Given the description of an element on the screen output the (x, y) to click on. 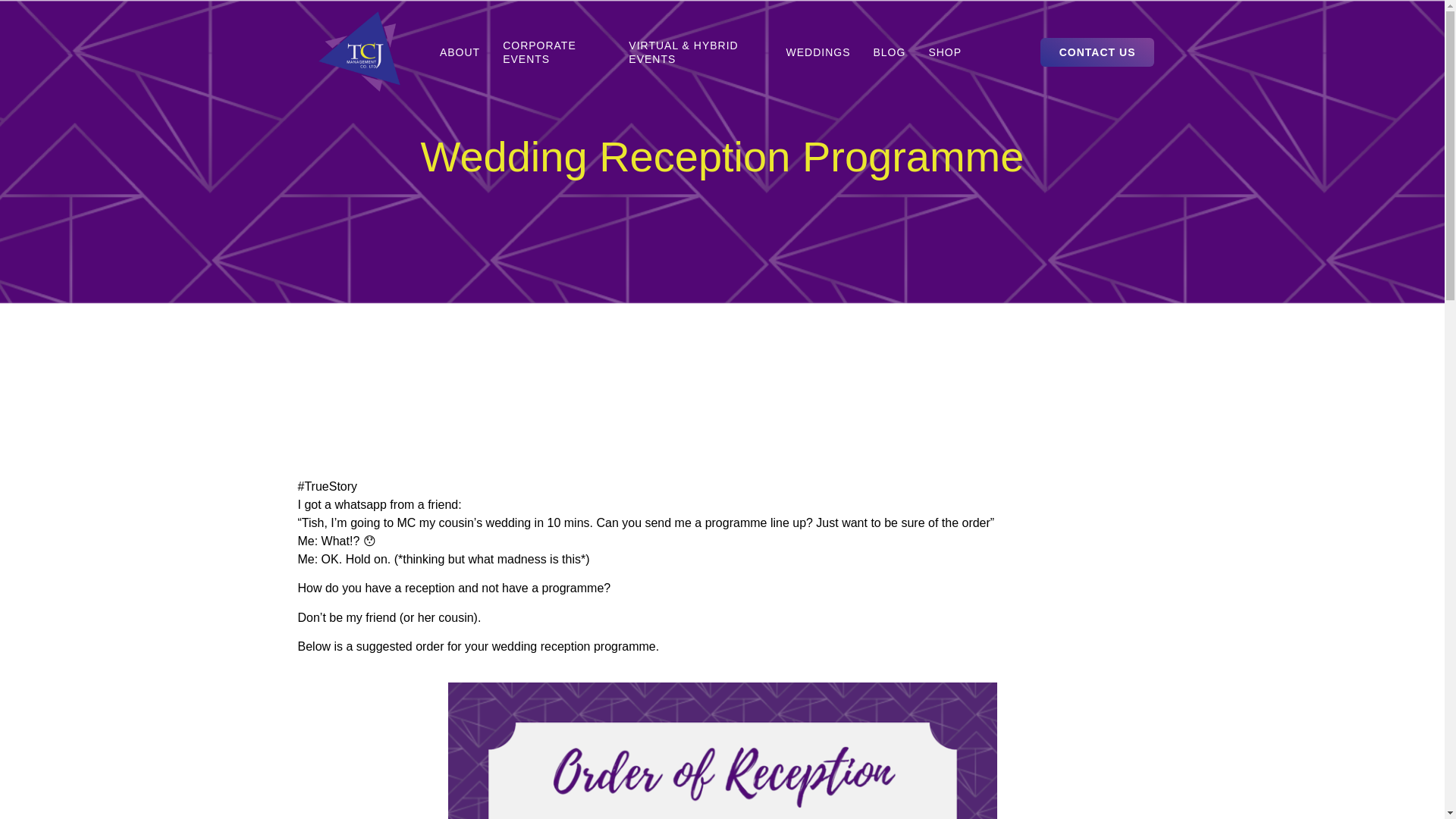
CORPORATE EVENTS (554, 52)
ABOUT (460, 52)
SHOP (944, 52)
CONTACT US (1097, 51)
WEDDINGS (817, 52)
BLOG (889, 52)
